Given the description of an element on the screen output the (x, y) to click on. 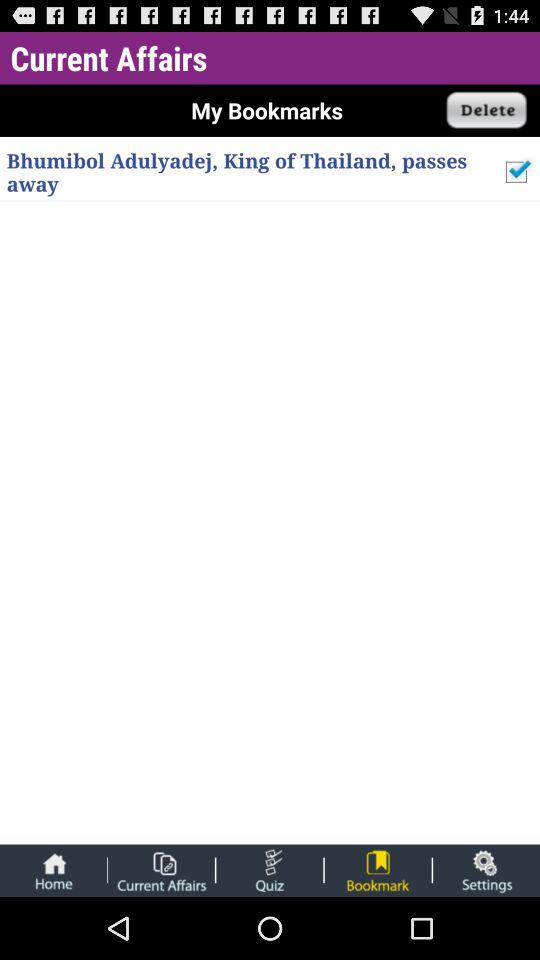
go to home page (53, 870)
